Given the description of an element on the screen output the (x, y) to click on. 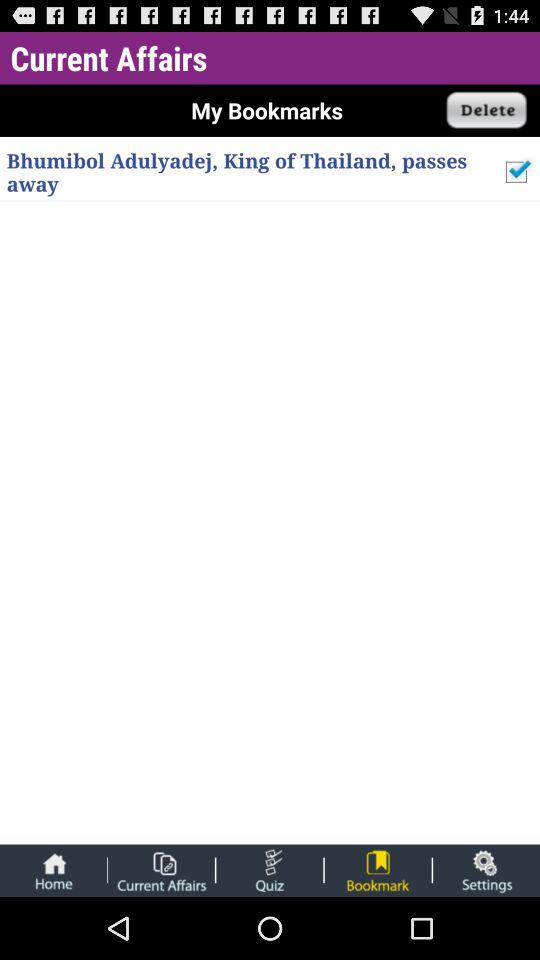
go to home page (53, 870)
